Given the description of an element on the screen output the (x, y) to click on. 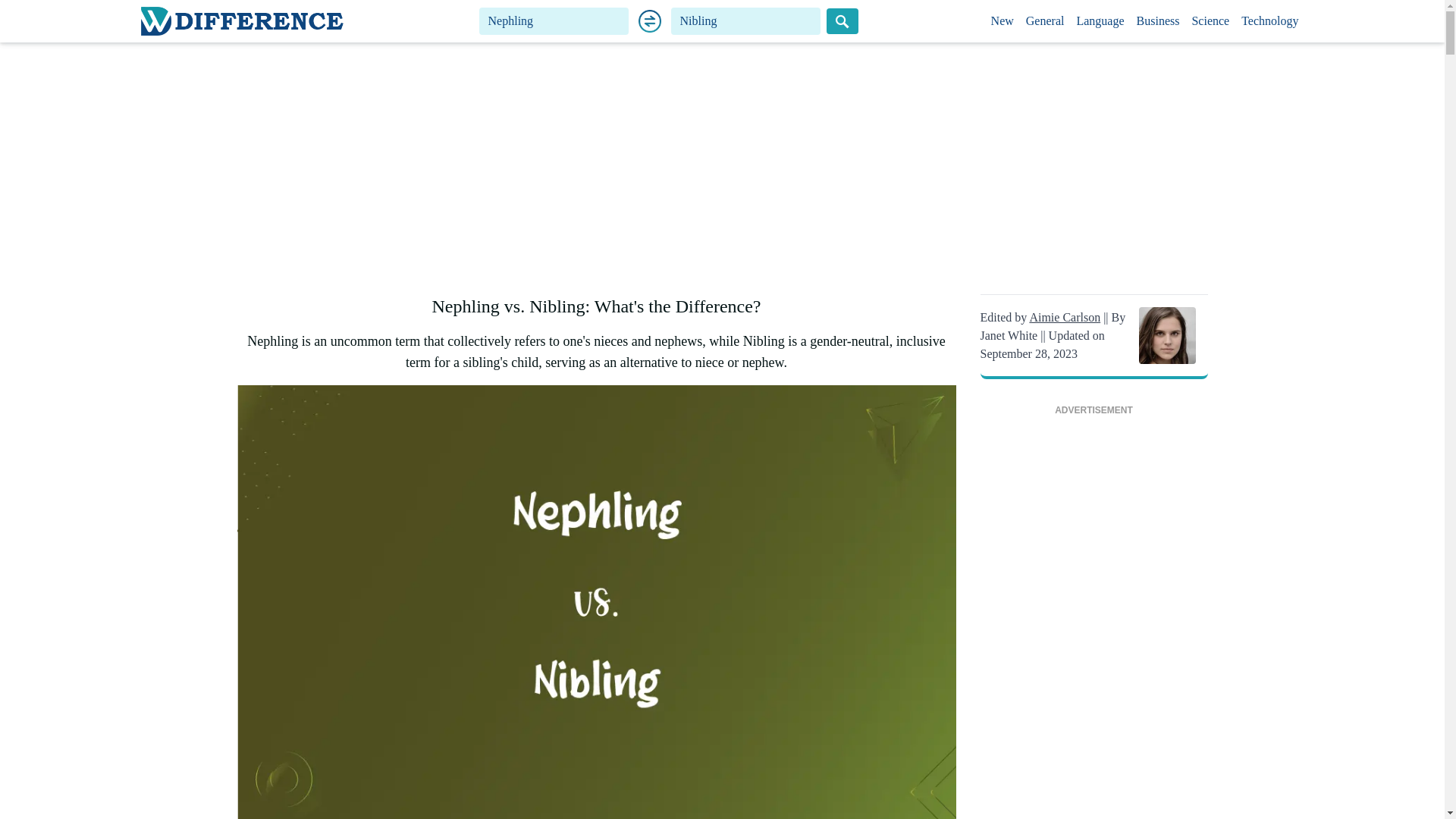
General (1045, 21)
Nibling (746, 21)
Language (1099, 21)
Nephling (553, 21)
Science (1209, 21)
New (1002, 21)
Technology (1269, 21)
Business (1158, 21)
